Given the description of an element on the screen output the (x, y) to click on. 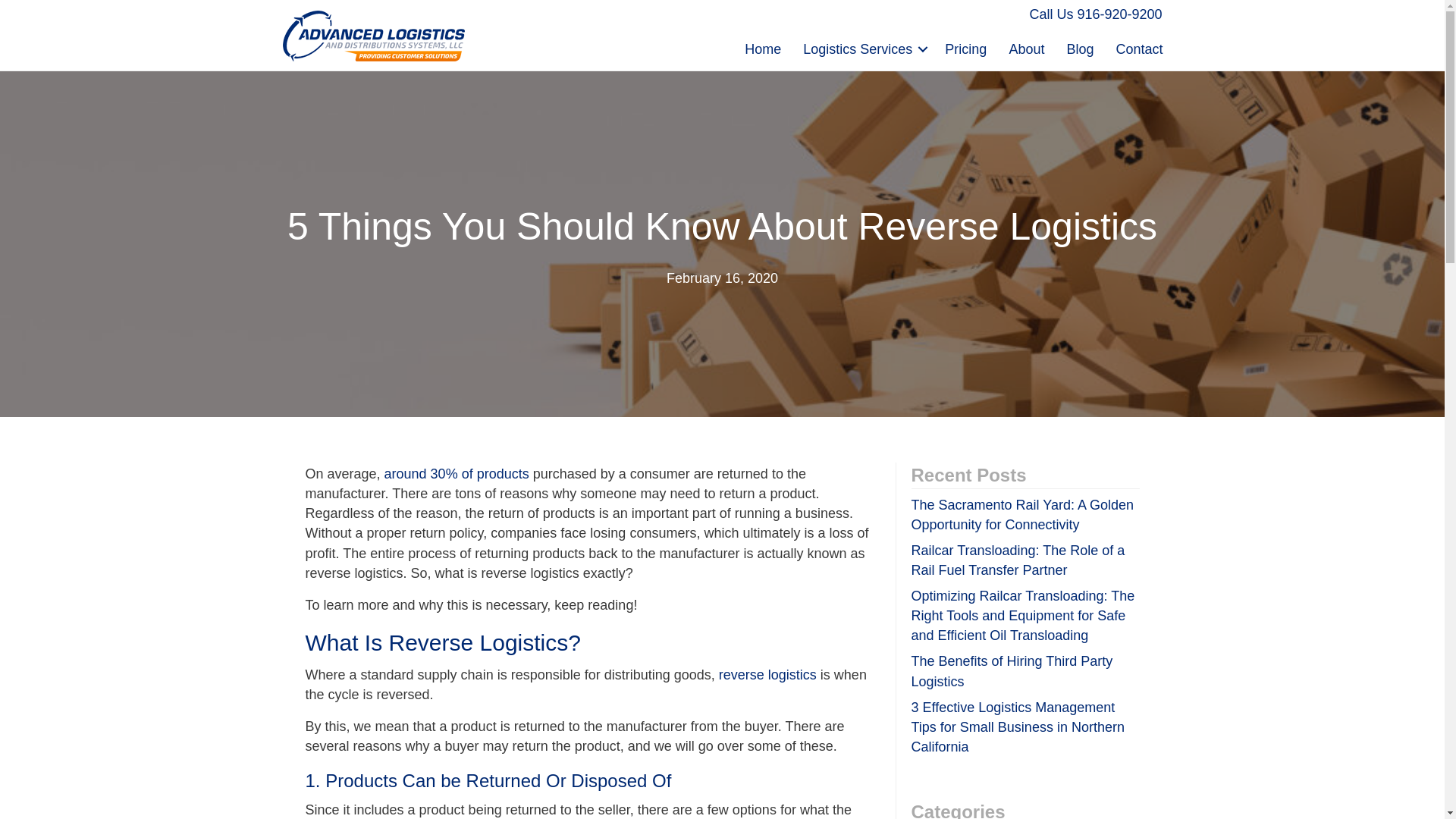
Pricing (965, 48)
ADVLOG2 (373, 35)
Logistics Services (862, 48)
Contact (1139, 48)
Home (762, 48)
About (1025, 48)
reverse logistics (767, 674)
Blog (1079, 48)
Call Us 916-920-9200 (1095, 14)
The Benefits of Hiring Third Party Logistics (1012, 670)
